Given the description of an element on the screen output the (x, y) to click on. 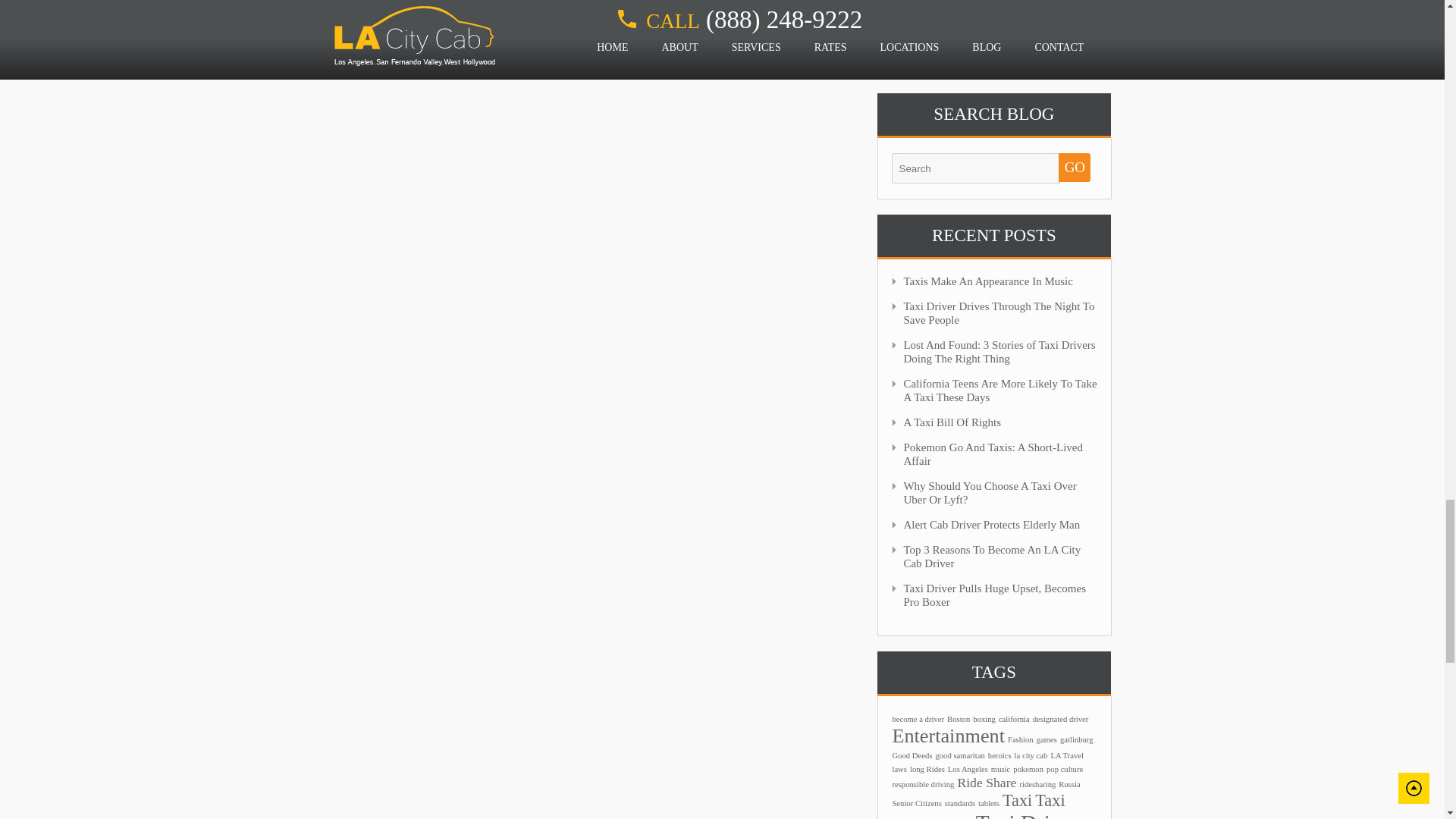
GO (1074, 167)
GO (1074, 167)
